Given the description of an element on the screen output the (x, y) to click on. 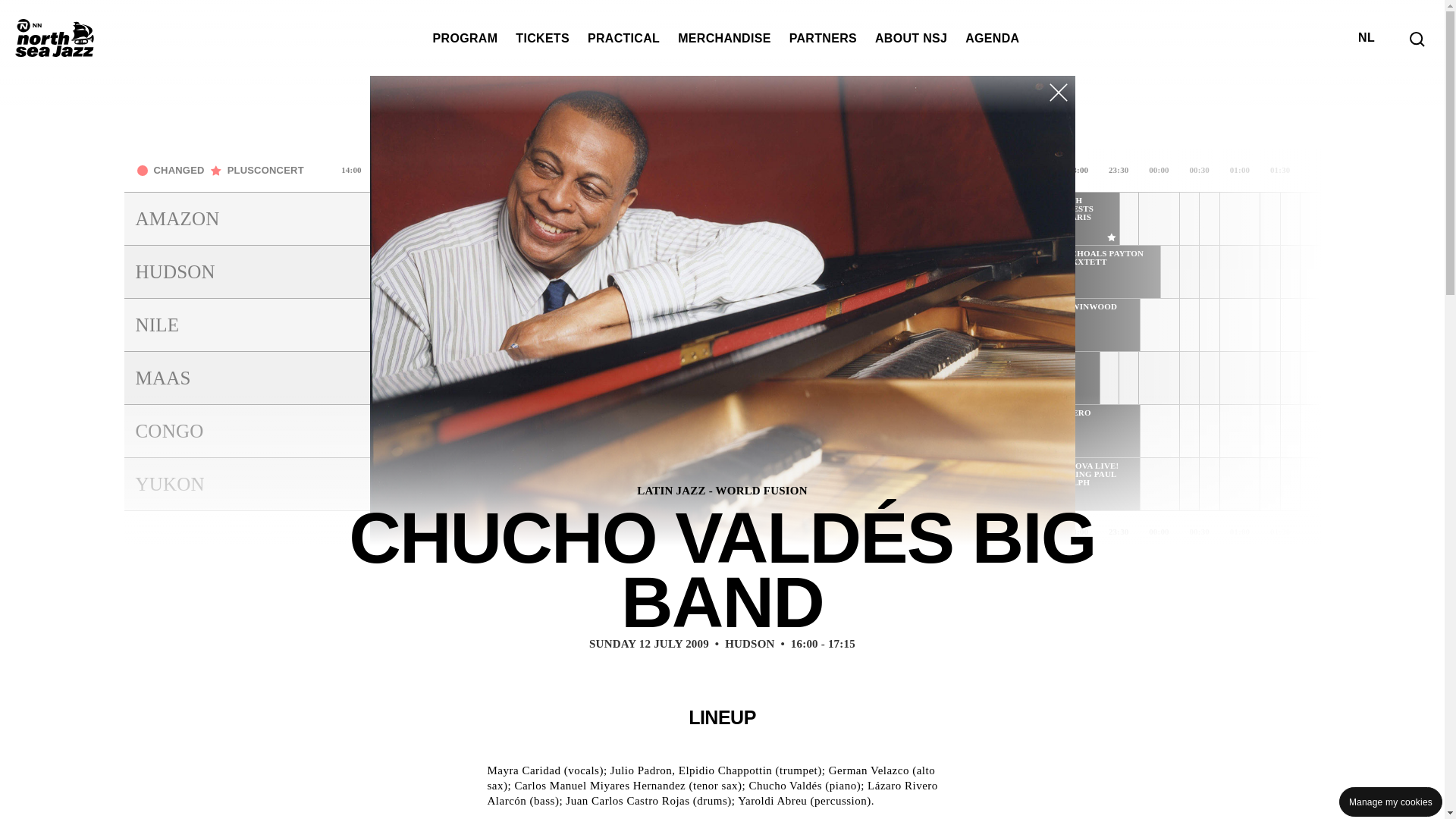
MERCHANDISE (724, 38)
TICKETS (542, 38)
PARTNERS (823, 38)
PROGRAM (464, 38)
AGENDA (992, 38)
PRACTICAL (623, 38)
ABOUT NSJ (911, 38)
